Given the description of an element on the screen output the (x, y) to click on. 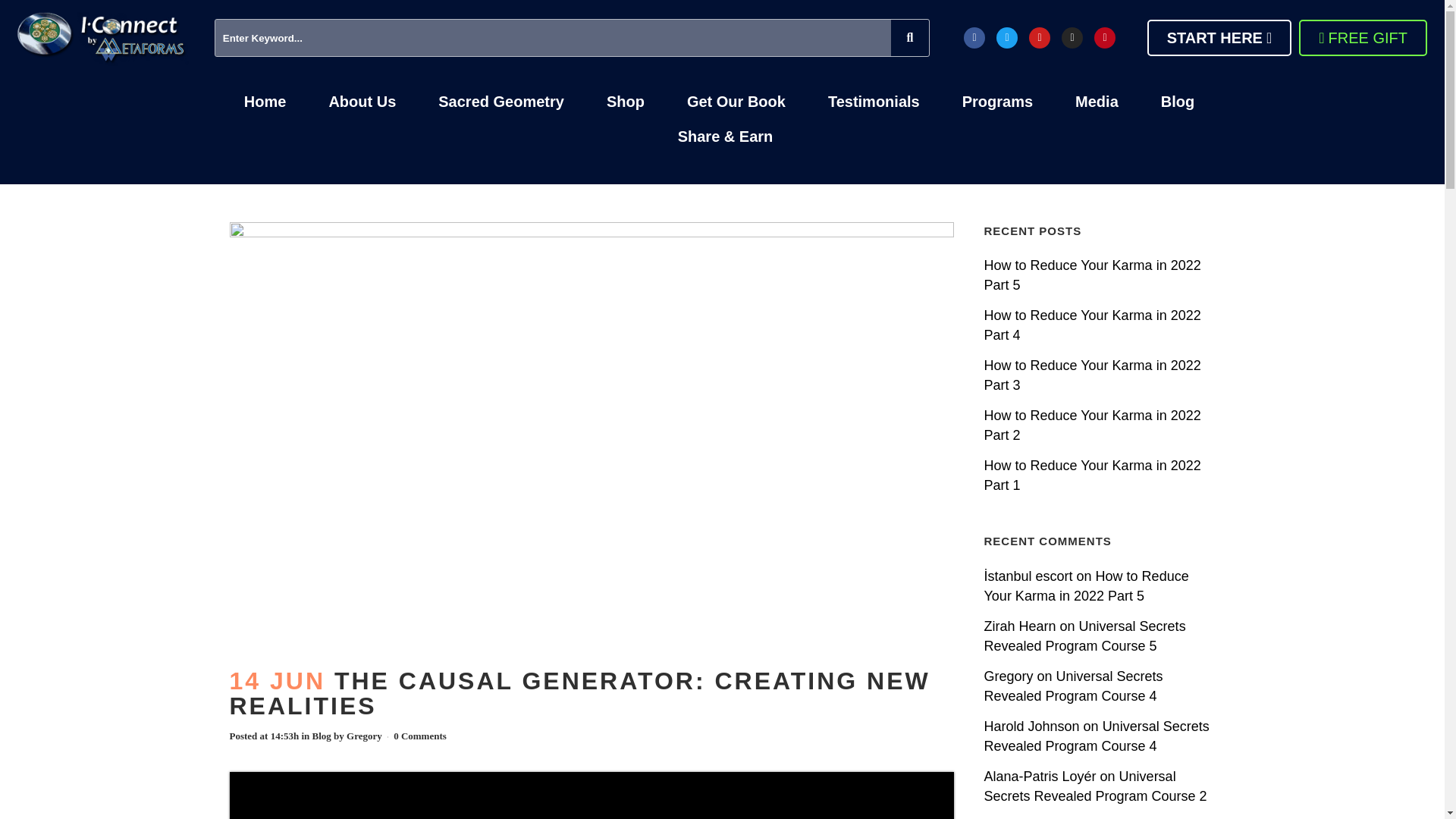
START HERE (1219, 37)
Shop (625, 101)
Home (264, 101)
About Us (361, 101)
FREE GIFT (1362, 37)
Sacred Geometry (501, 101)
Search (553, 37)
